Given the description of an element on the screen output the (x, y) to click on. 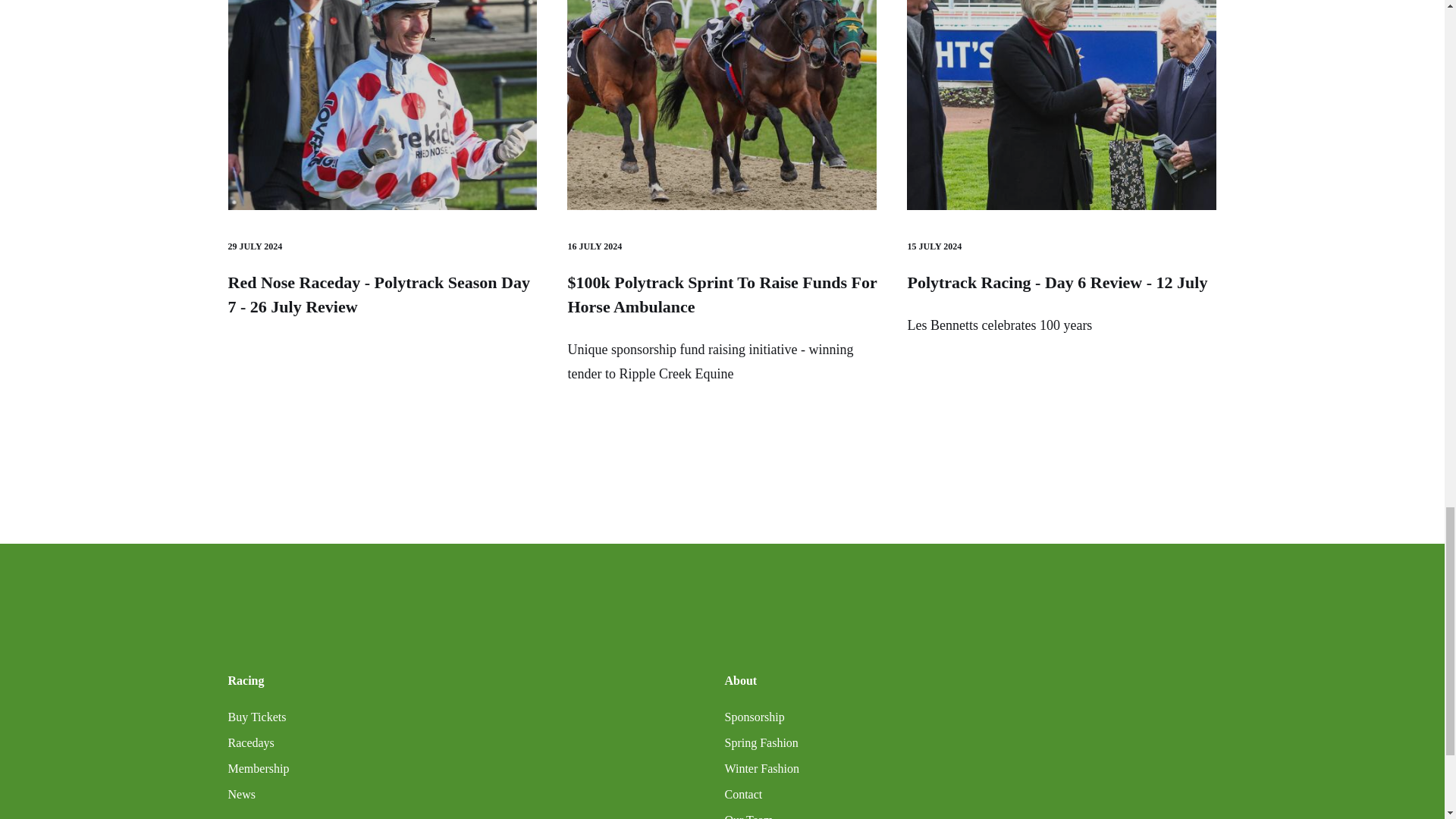
Buy Tickets (256, 717)
News (240, 794)
Polytrack Racing - Day 6 Review - 12 July (1057, 281)
RACING (721, 104)
RACING (1061, 104)
RACING (382, 104)
Red Nose Raceday - Polytrack Season Day 7 - 26 July Review (378, 294)
Membership (257, 769)
Racedays (250, 742)
